Given the description of an element on the screen output the (x, y) to click on. 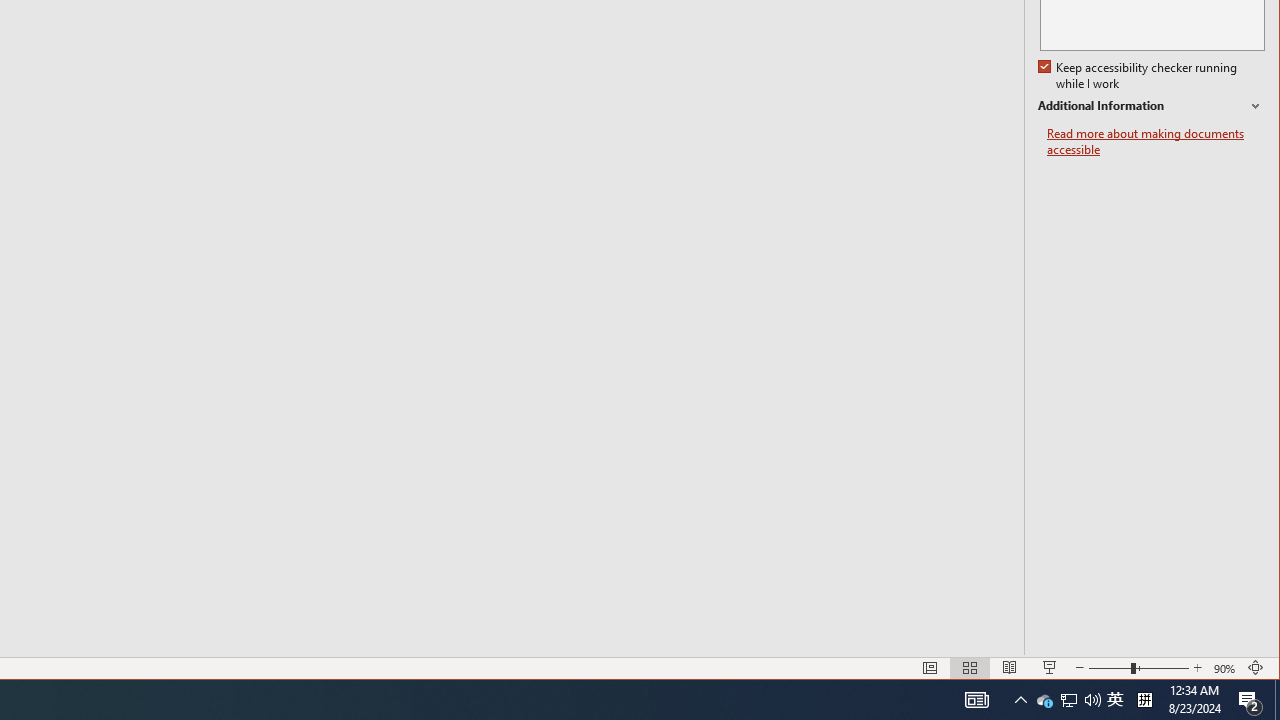
User Promoted Notification Area (1068, 699)
Zoom 90% (1225, 668)
Keep accessibility checker running while I work (1069, 699)
